Given the description of an element on the screen output the (x, y) to click on. 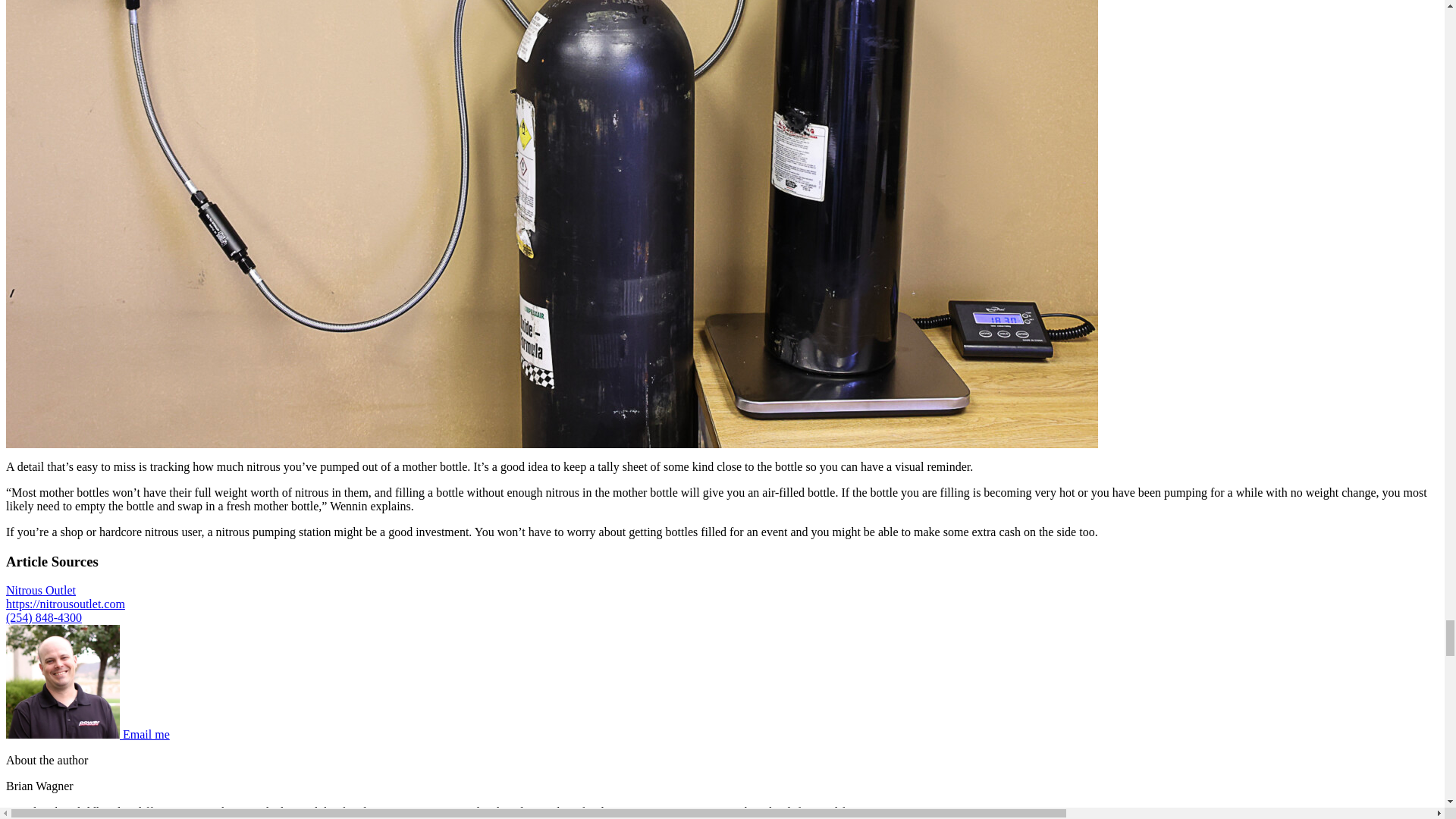
Nitrous Outlet (40, 590)
Email me (146, 734)
